Given the description of an element on the screen output the (x, y) to click on. 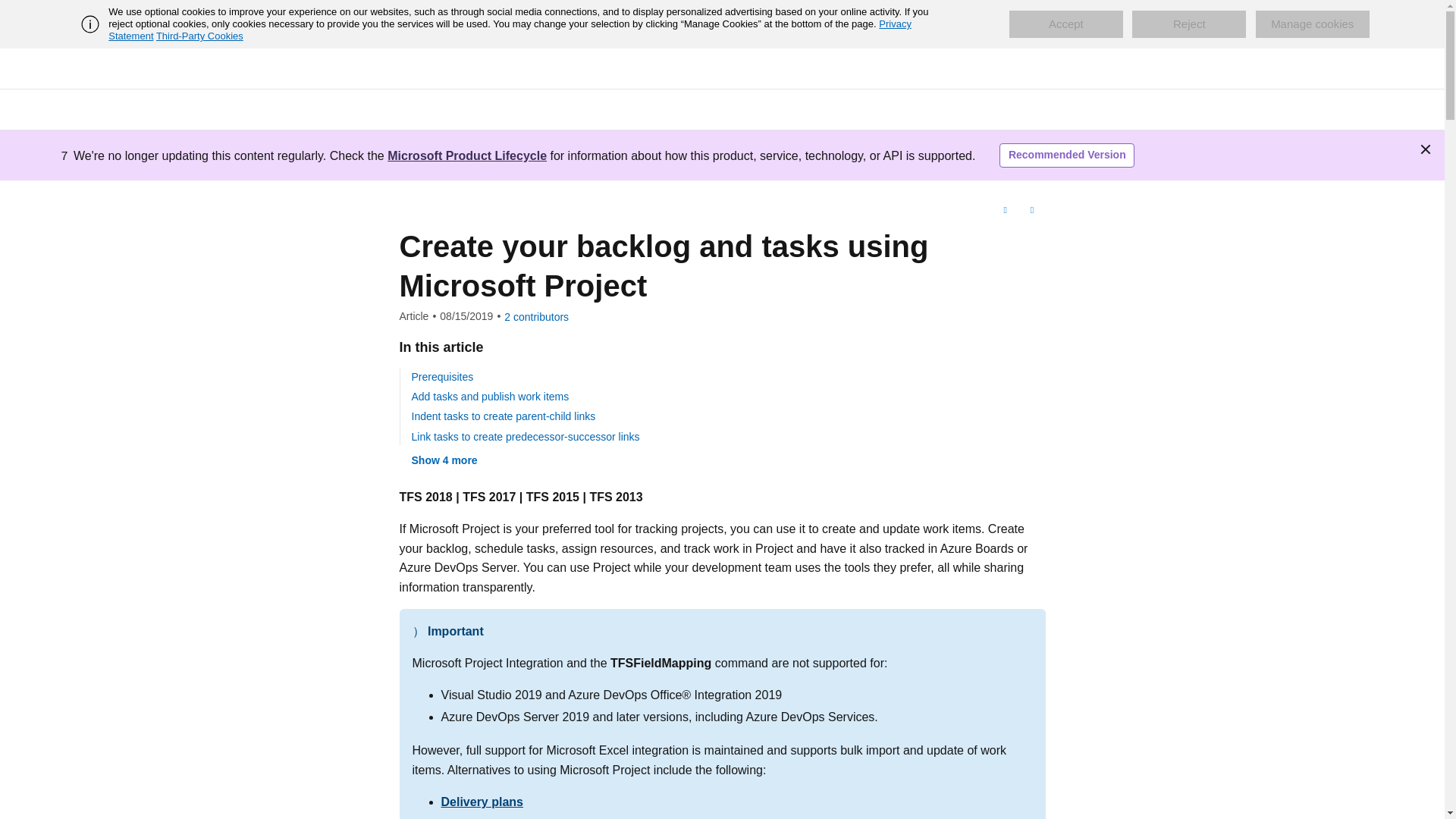
Accept (1065, 23)
Privacy Statement (509, 29)
Delivery plans (482, 801)
Link tasks to create predecessor-successor links (524, 436)
Show 4 more (443, 460)
Third-Party Cookies (199, 35)
Prerequisites (441, 377)
Microsoft Product Lifecycle (467, 155)
Recommended Version (1066, 155)
Indent tasks to create parent-child links (502, 416)
